Given the description of an element on the screen output the (x, y) to click on. 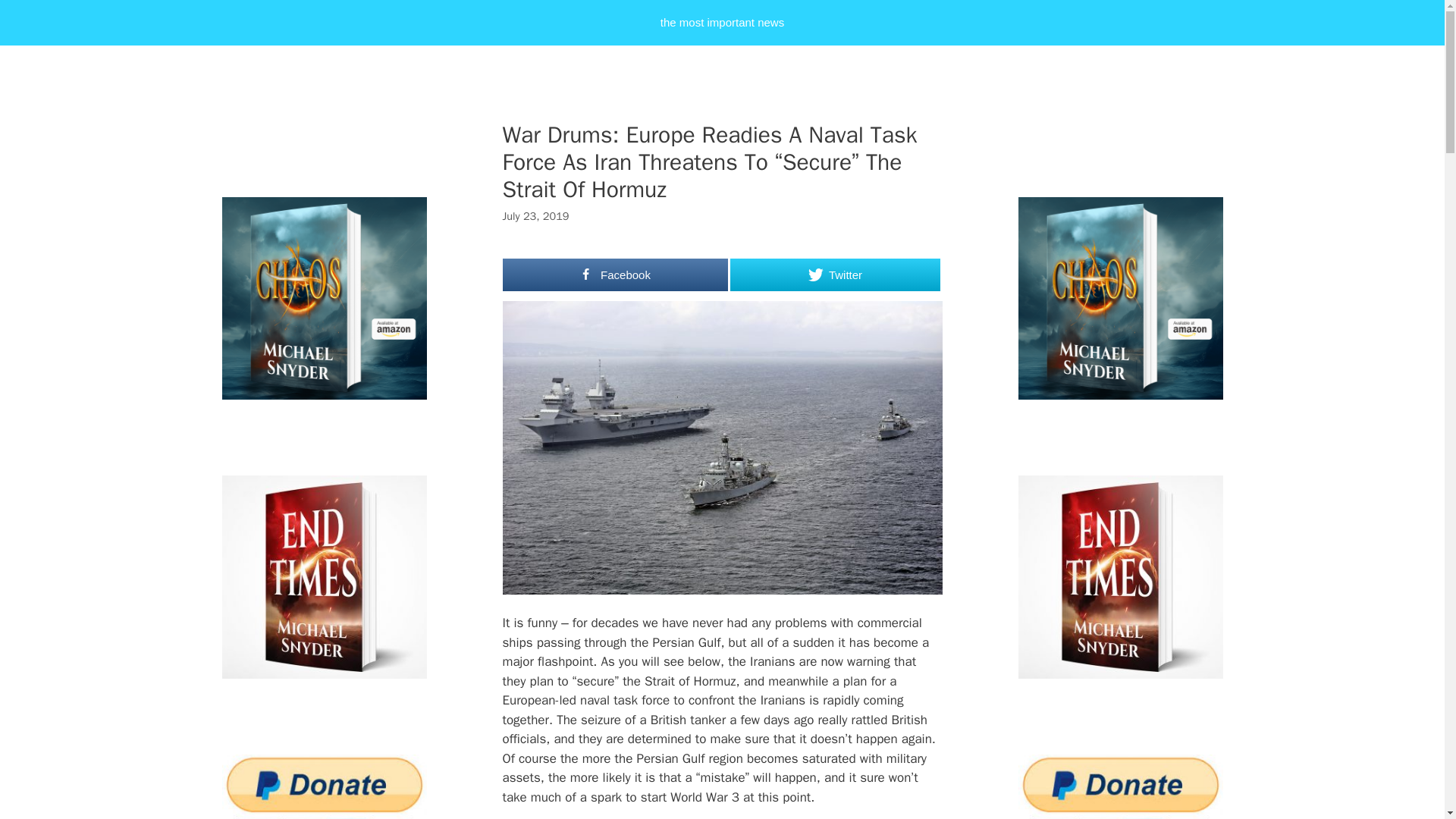
the most important news (722, 22)
Twitter (834, 274)
the most important news (722, 22)
Facebook (615, 274)
Twitter (834, 274)
Facebook (615, 274)
